Given the description of an element on the screen output the (x, y) to click on. 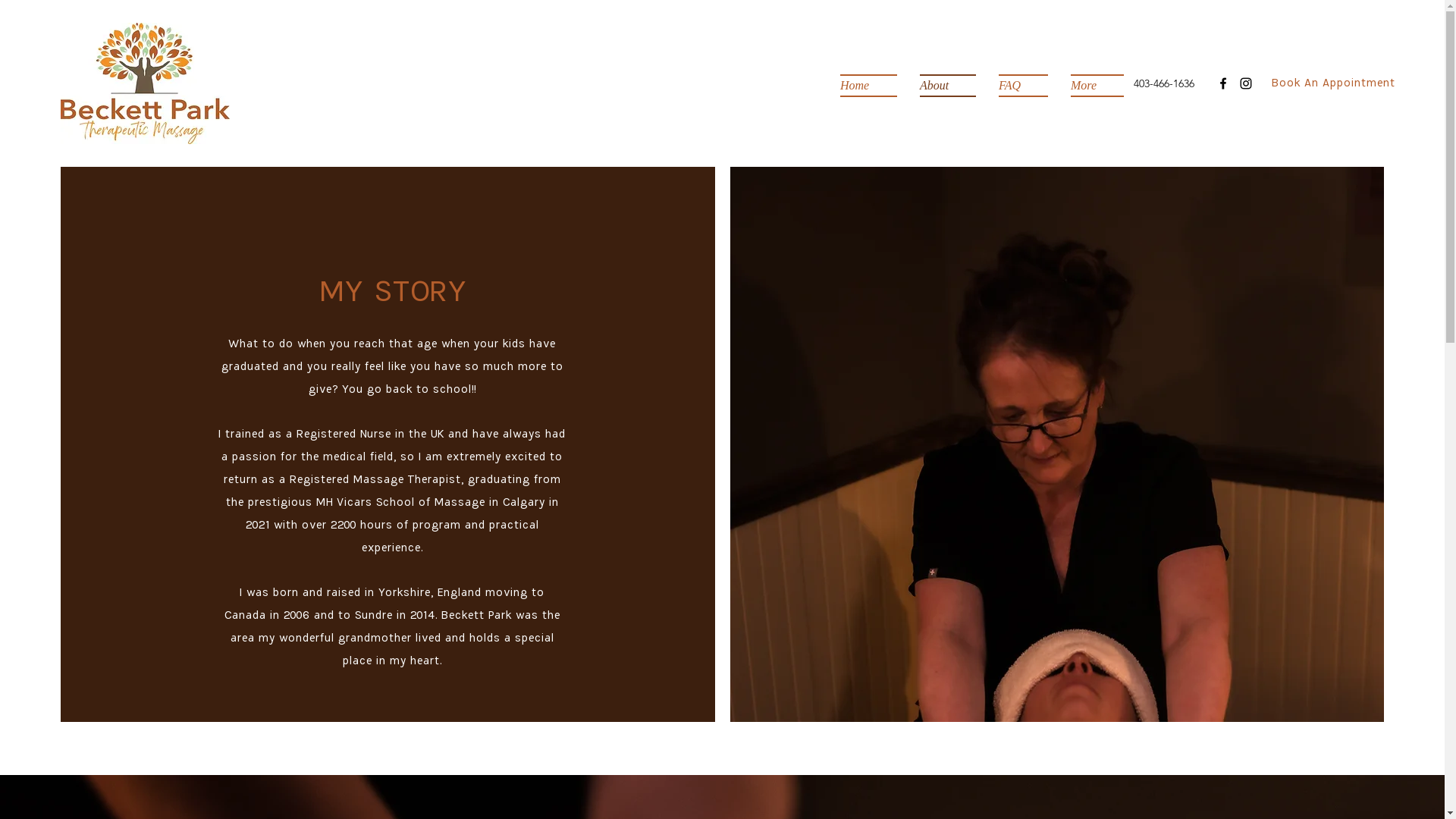
Book An Appointment Element type: text (1332, 83)
Home Element type: text (874, 85)
403-466-1636 Element type: text (1163, 83)
FAQ Element type: text (1023, 85)
About Element type: text (947, 85)
